Given the description of an element on the screen output the (x, y) to click on. 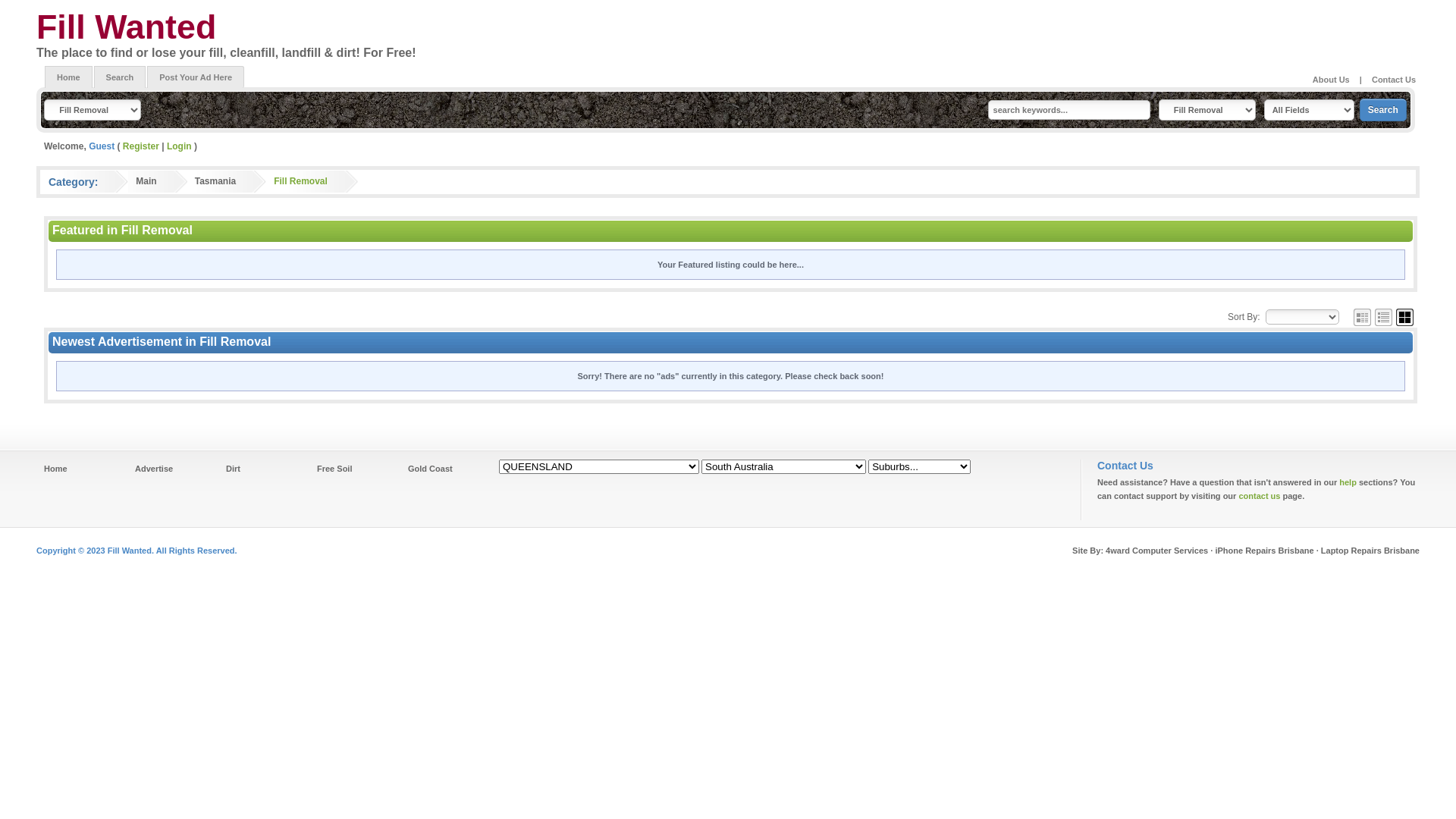
Home Element type: text (55, 468)
Gold Coast Element type: text (429, 468)
Fill Wanted Element type: text (126, 26)
Advertise Element type: text (153, 468)
Dirt Element type: text (232, 468)
Login Element type: text (178, 146)
About Us Element type: text (1330, 79)
Post Your Ad Here Element type: text (195, 76)
Free Soil Element type: text (333, 468)
Search Element type: text (1382, 109)
4ward Computer Services Element type: text (1156, 550)
Home Element type: text (68, 76)
Grid Element type: hover (1362, 316)
help Element type: text (1347, 481)
List Element type: hover (1383, 316)
Tasmania Element type: text (214, 180)
Contact Us Element type: text (1393, 79)
Register Element type: text (140, 146)
Main Element type: text (145, 180)
Gallery Element type: hover (1404, 316)
Laptop Repairs Brisbane Element type: text (1370, 550)
contact us Element type: text (1259, 495)
Search Element type: text (120, 76)
iPhone Repairs Brisbane Element type: text (1263, 550)
